Given the description of an element on the screen output the (x, y) to click on. 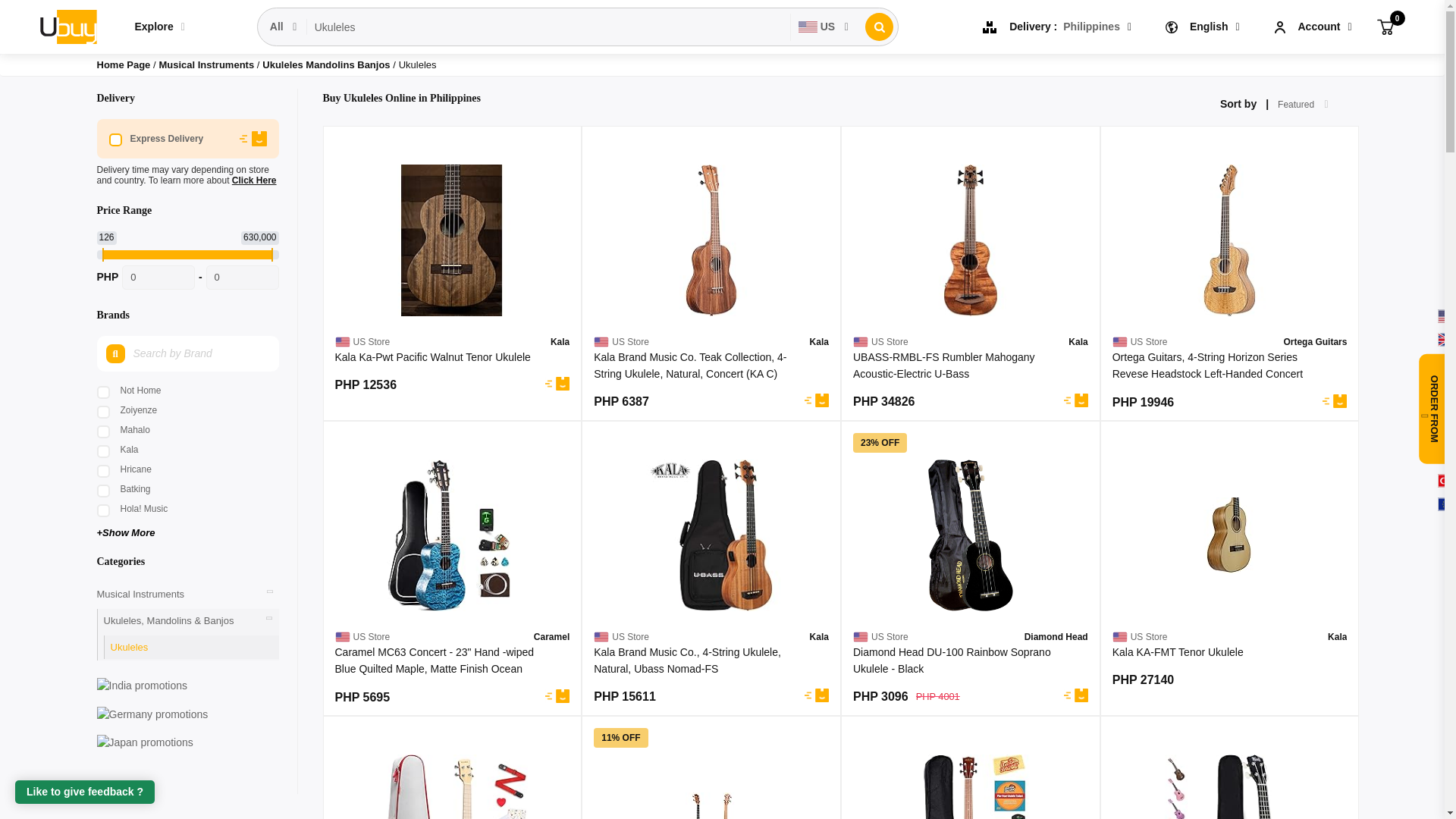
0 (158, 277)
Home Page (124, 64)
Home Page (124, 64)
Ukuleles (548, 26)
0 (242, 277)
Ubuy (67, 26)
Cart (1385, 26)
0 (1385, 26)
Ukuleles (548, 26)
US (823, 26)
All (283, 26)
